Given the description of an element on the screen output the (x, y) to click on. 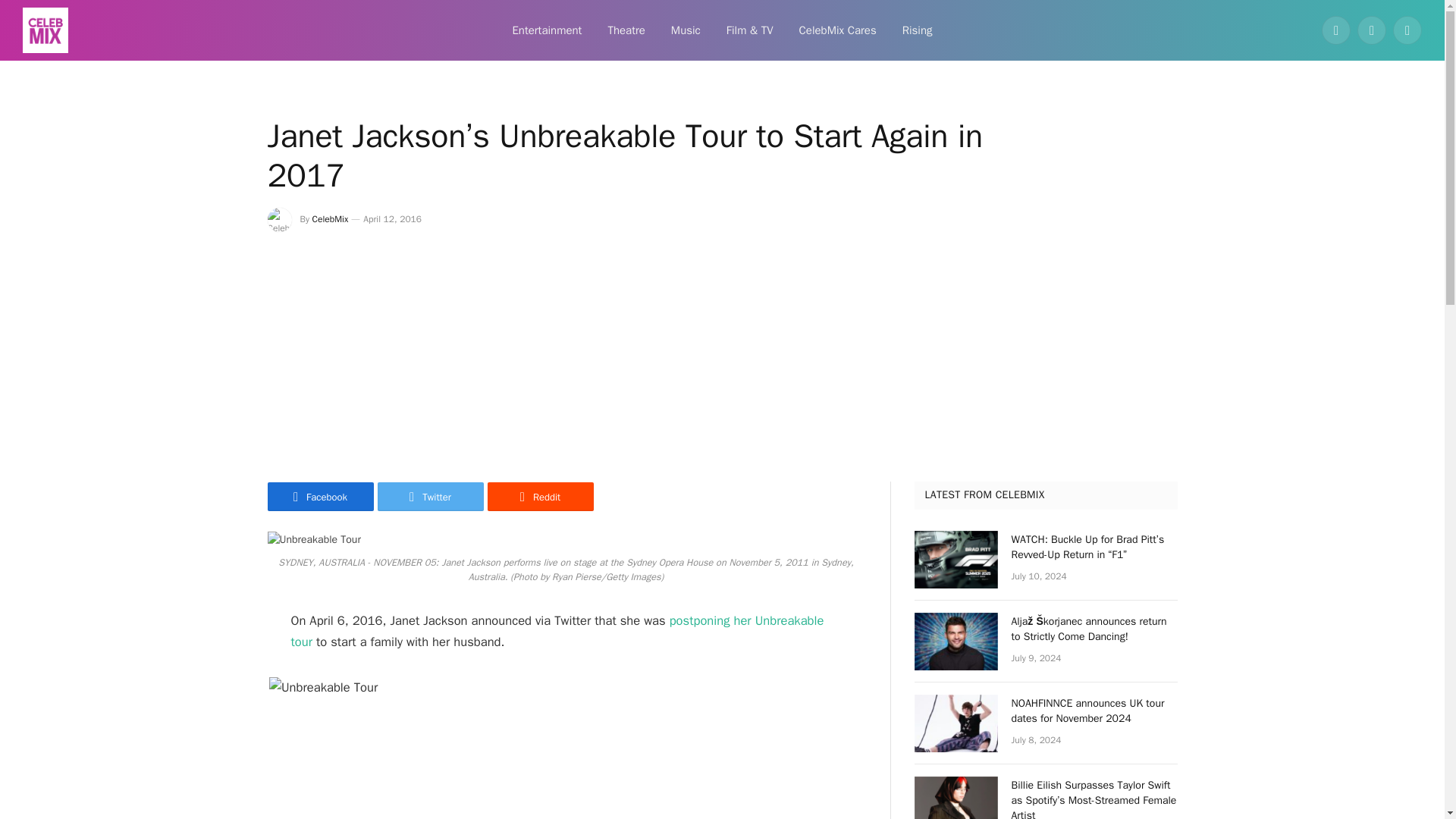
Theatre (626, 30)
Reddit (539, 496)
CelebMix Cares (837, 30)
Posts by CelebMix (331, 218)
Share on Reddit (539, 496)
postponing her Unbreakable tour (557, 631)
Entertainment (546, 30)
Music (685, 30)
CelebMix (331, 218)
Facebook (319, 496)
Facebook (1336, 30)
Instagram (1407, 30)
Twitter (430, 496)
Rising (916, 30)
